Given the description of an element on the screen output the (x, y) to click on. 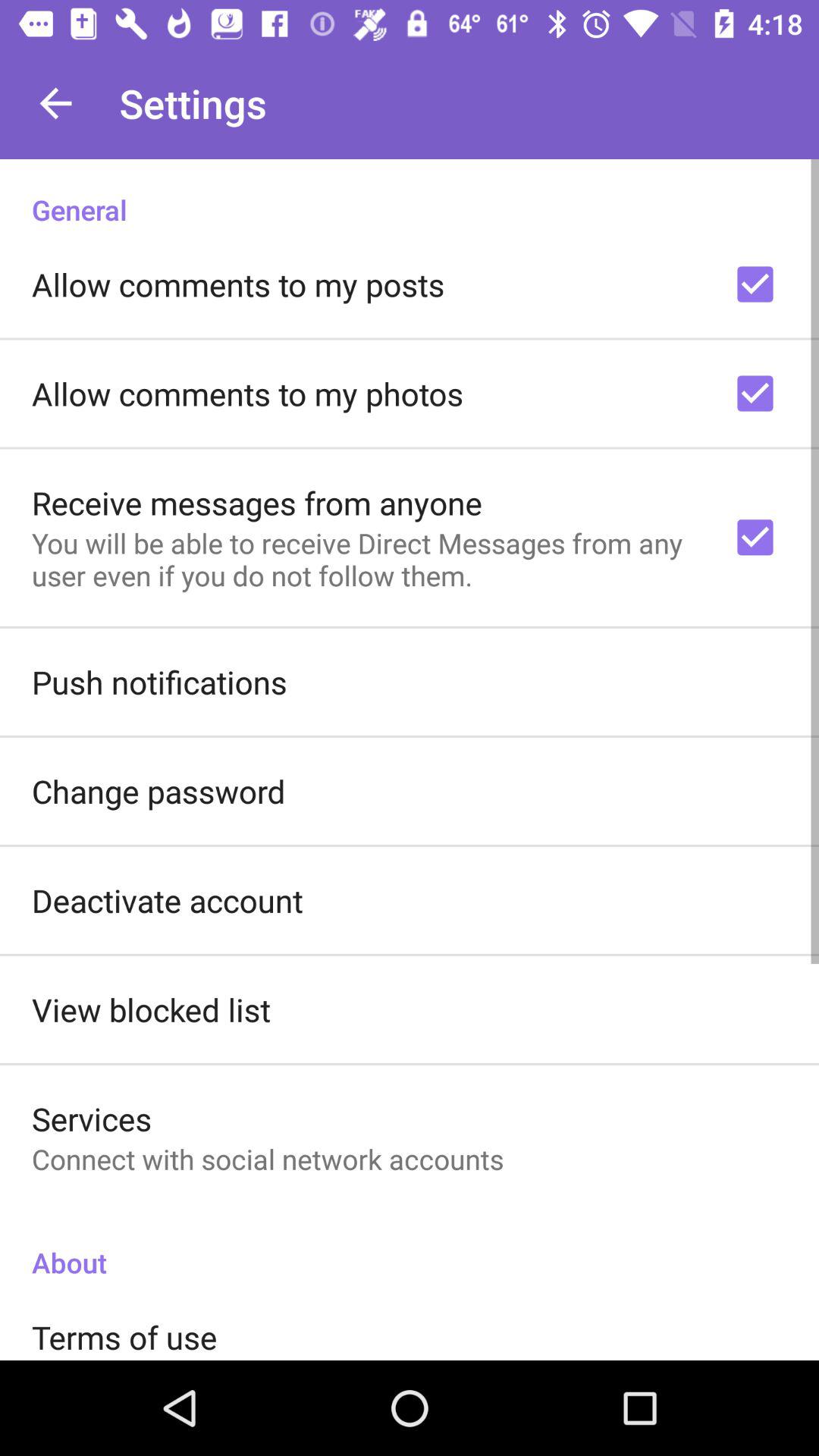
select about item (409, 1246)
